Given the description of an element on the screen output the (x, y) to click on. 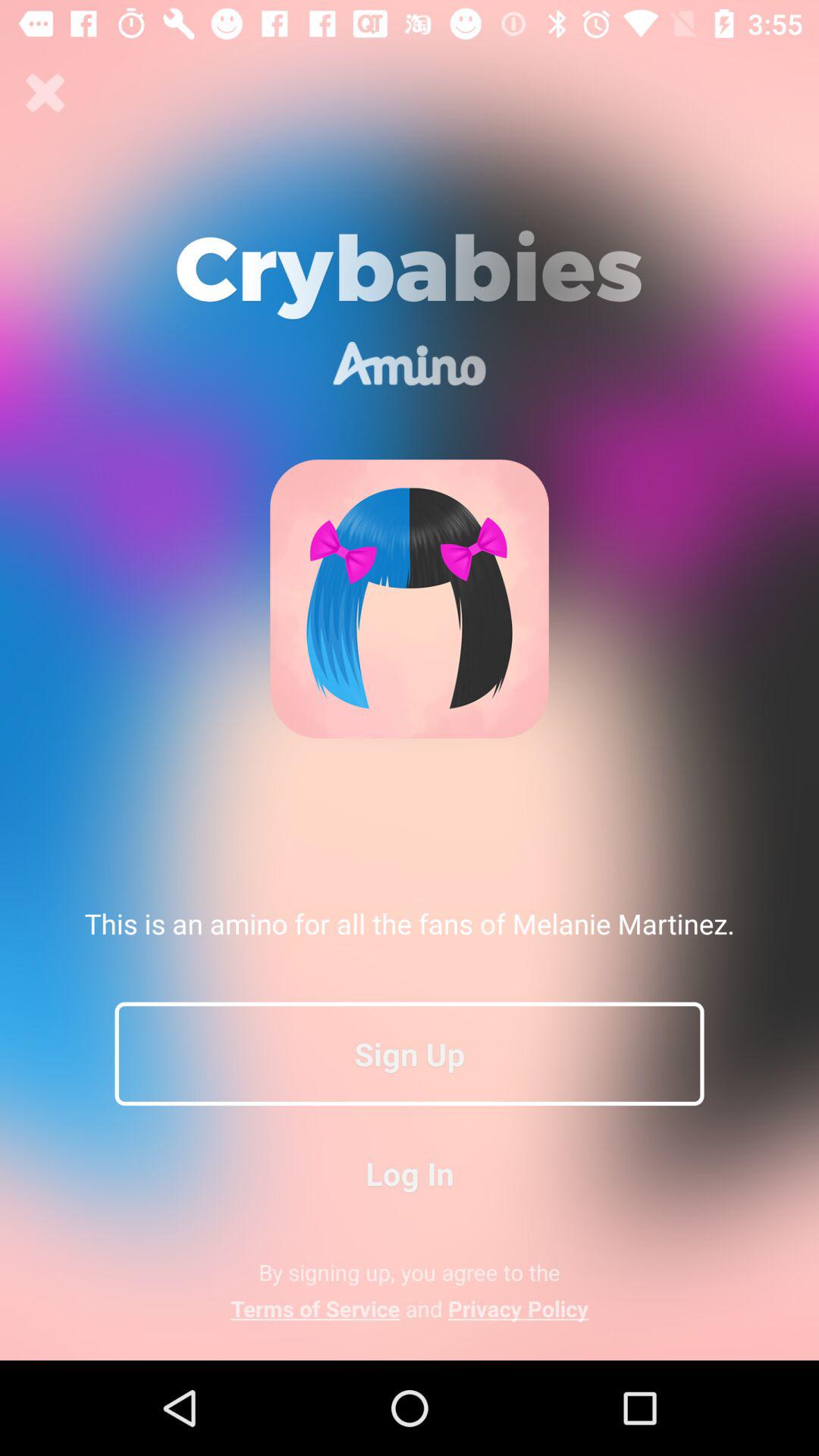
press icon at the top left corner (45, 93)
